Given the description of an element on the screen output the (x, y) to click on. 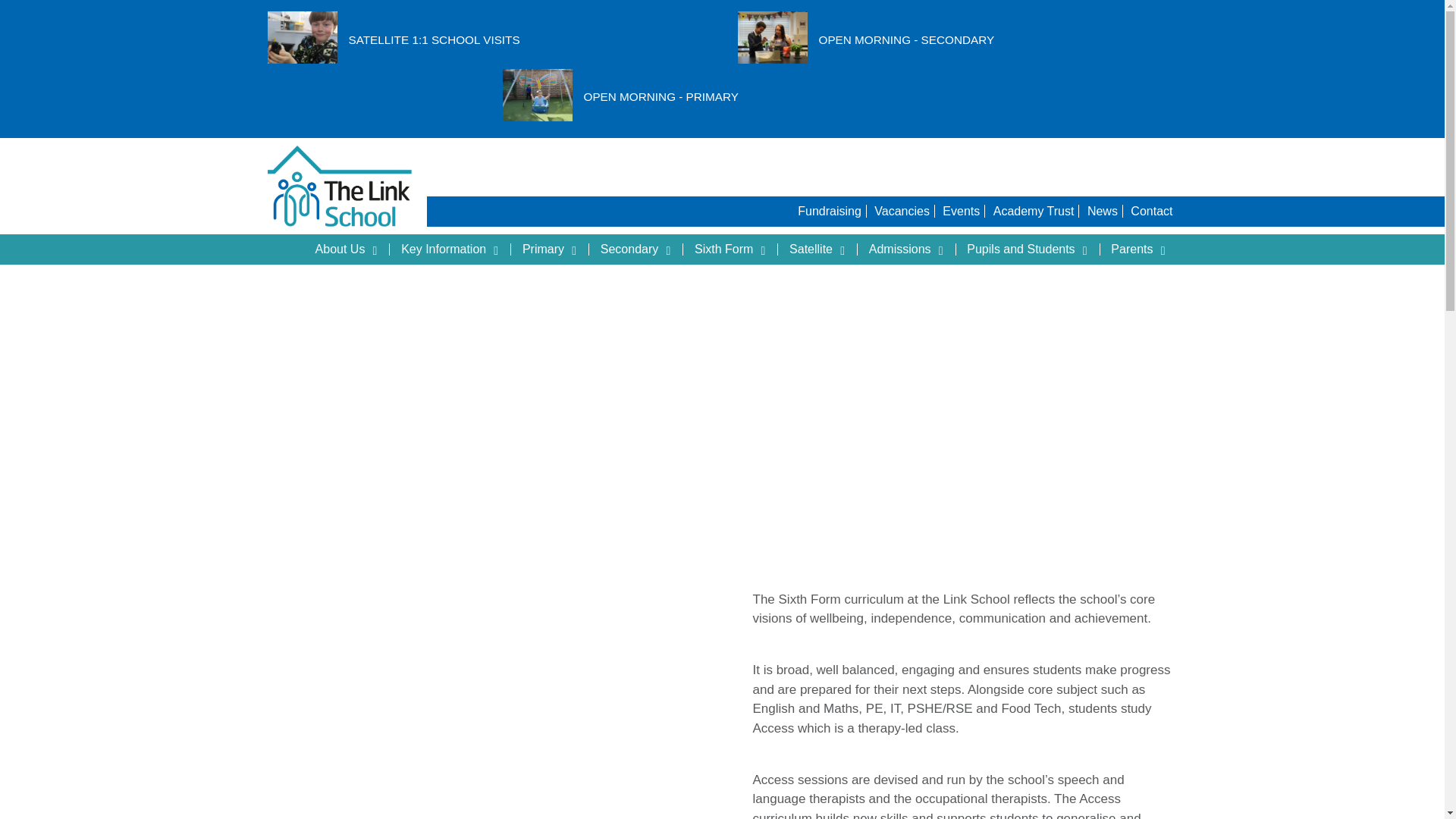
Secondary (638, 249)
Admissions (908, 249)
Sixth Form (732, 249)
Primary (552, 249)
Vacancies (901, 210)
OPEN MORNING - PRIMARY (661, 97)
Contact (1150, 210)
Academy Trust (1034, 210)
Fundraising (831, 210)
News (1102, 210)
